Given the description of an element on the screen output the (x, y) to click on. 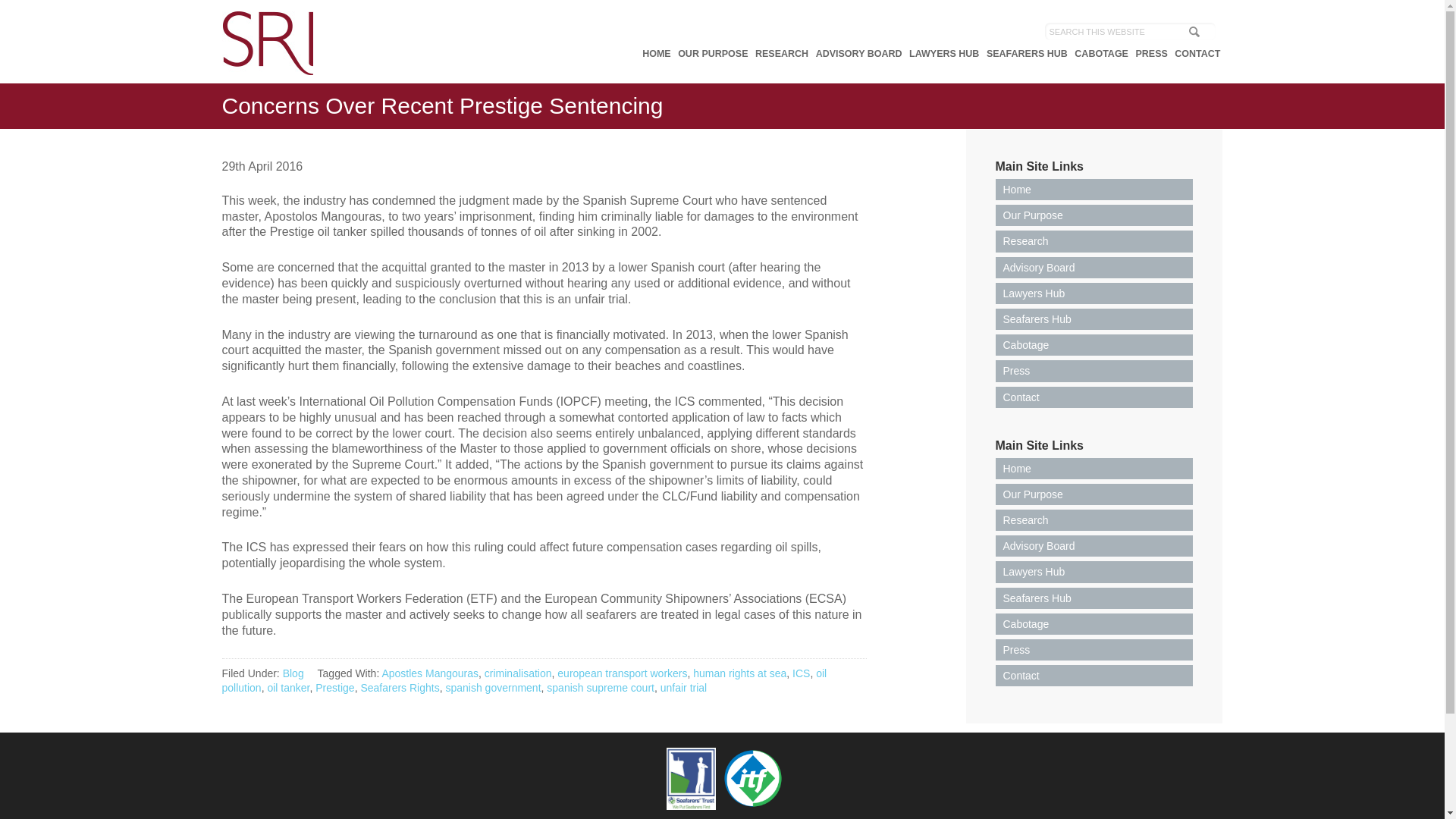
Our Purpose (1093, 494)
spanish supreme court (600, 687)
LAWYERS HUB (944, 53)
european transport workers (622, 673)
Apostles Mangouras (430, 673)
criminalisation (517, 673)
spanish government (492, 687)
Advisory Board (1093, 267)
HOME (656, 53)
